Given the description of an element on the screen output the (x, y) to click on. 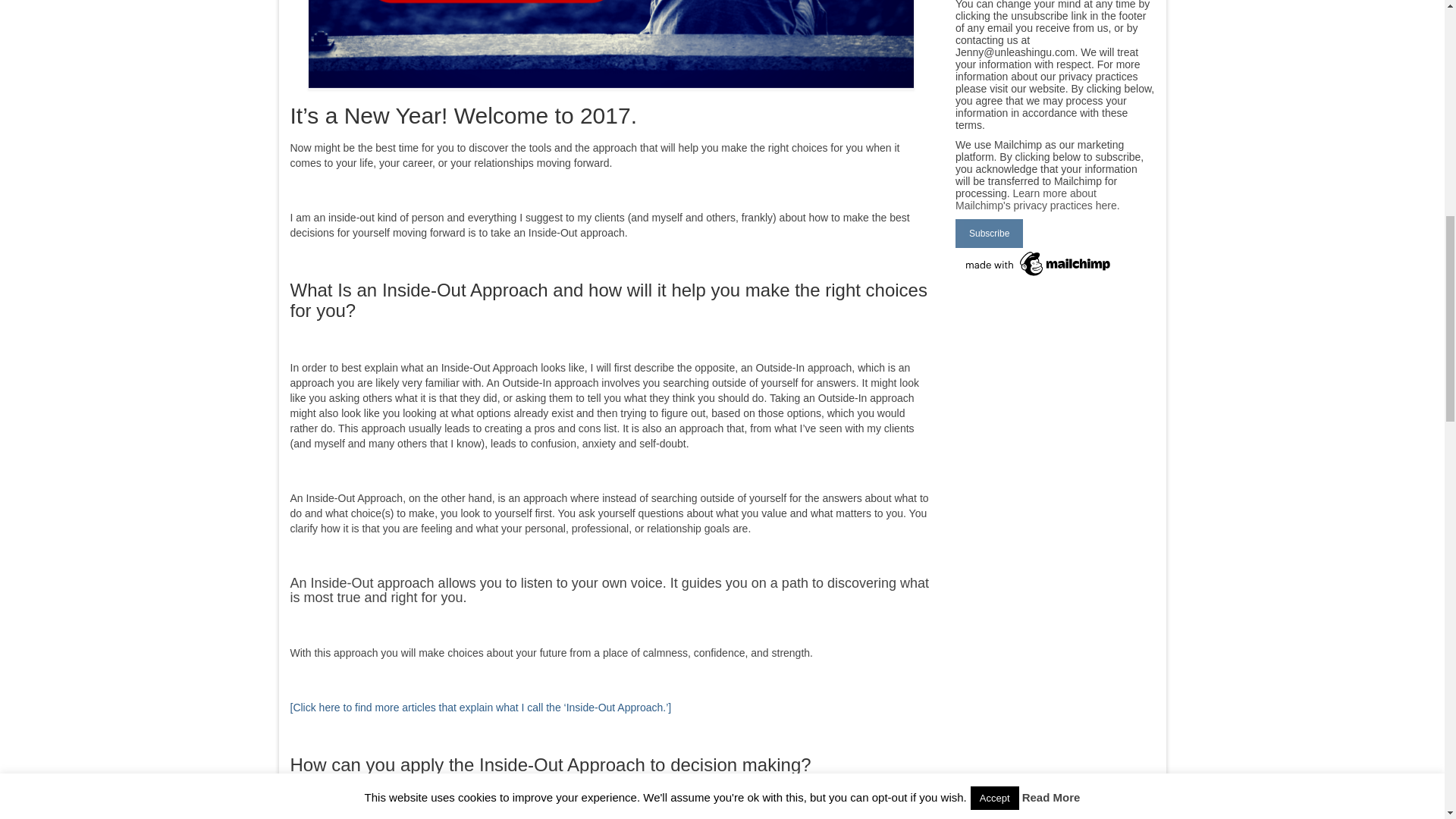
Subscribe (989, 233)
